Given the description of an element on the screen output the (x, y) to click on. 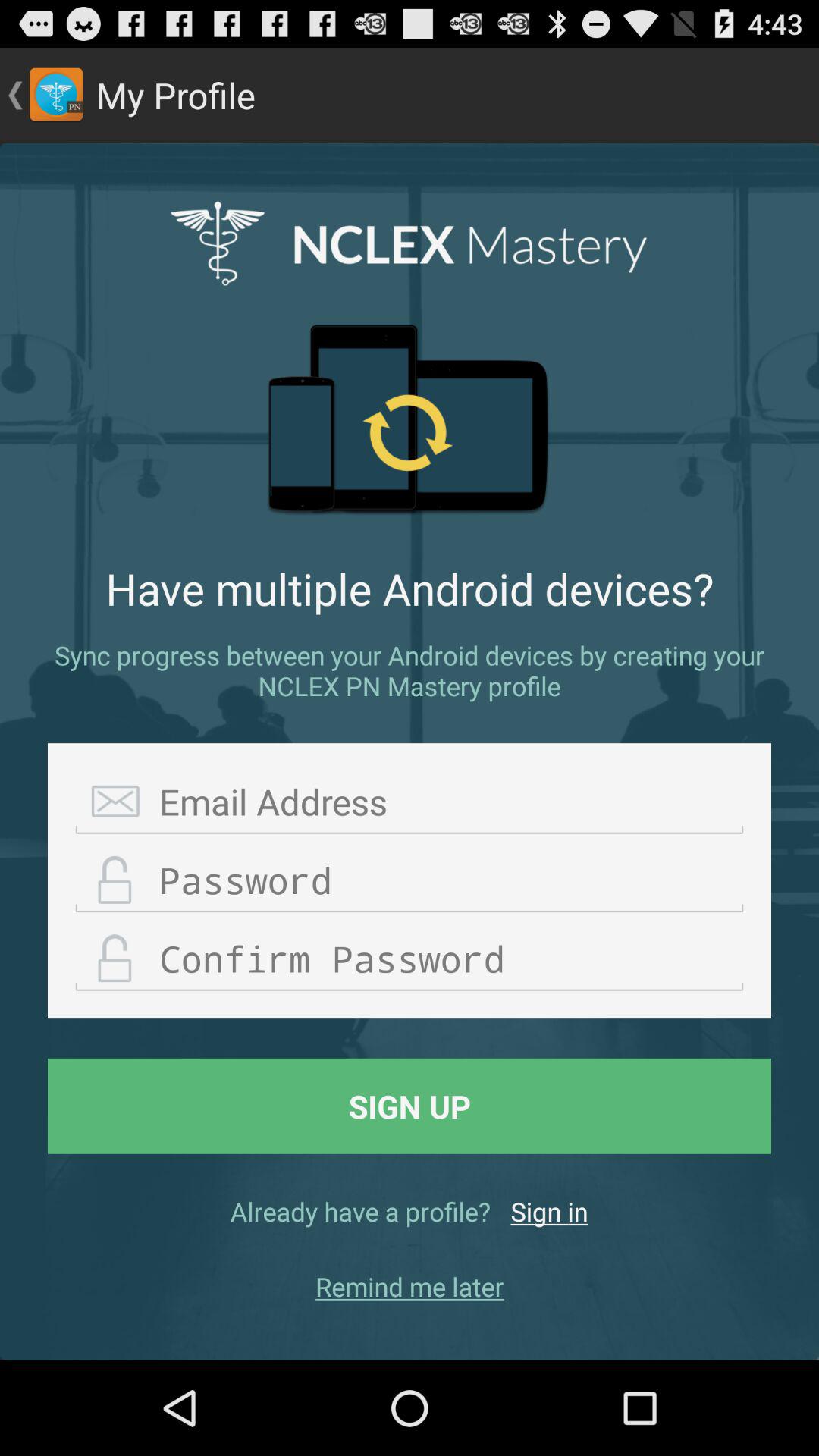
jump until the remind me later item (409, 1286)
